Given the description of an element on the screen output the (x, y) to click on. 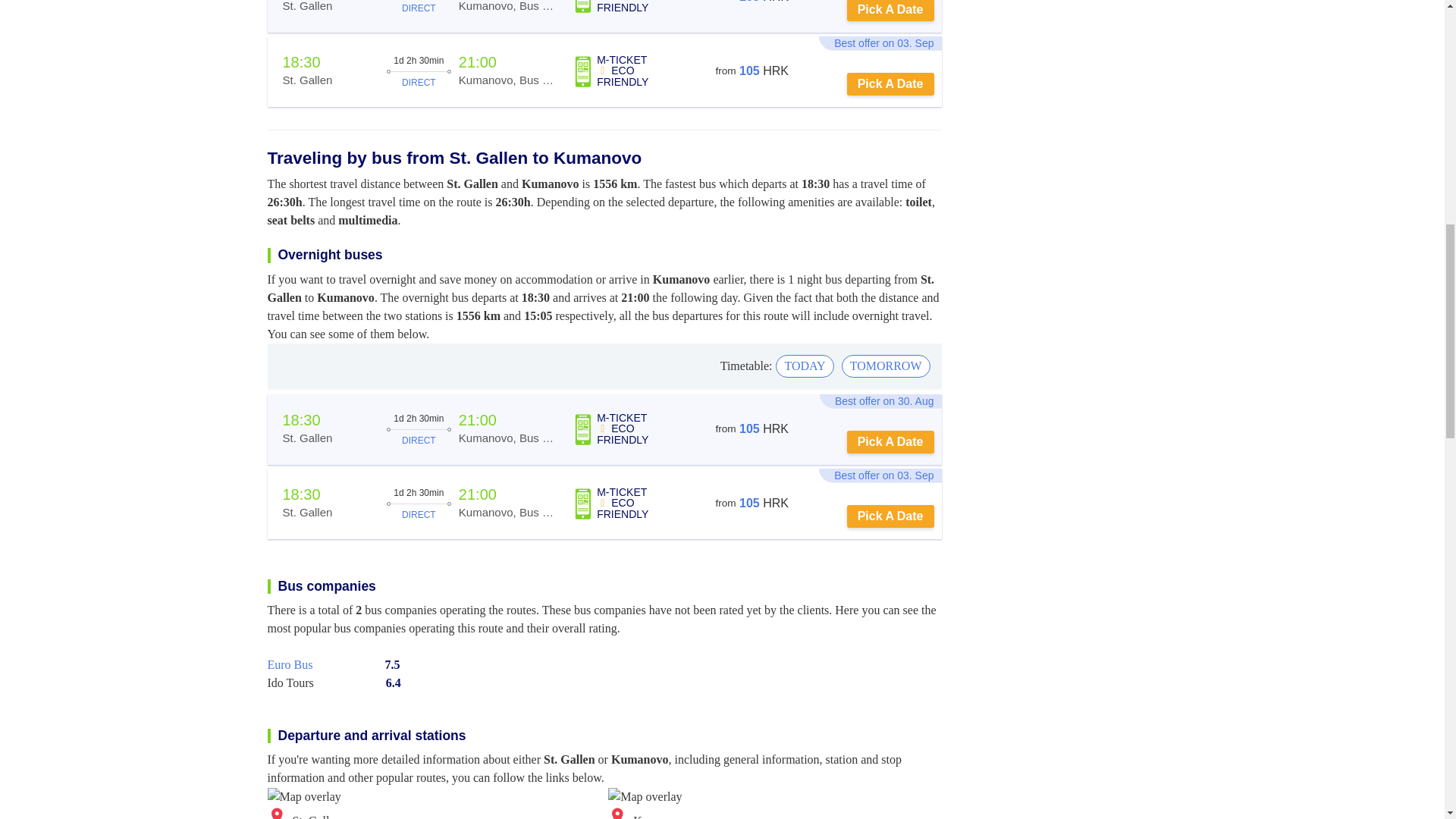
Euro Bus (289, 665)
TODAY (804, 365)
TOMORROW (885, 365)
